Given the description of an element on the screen output the (x, y) to click on. 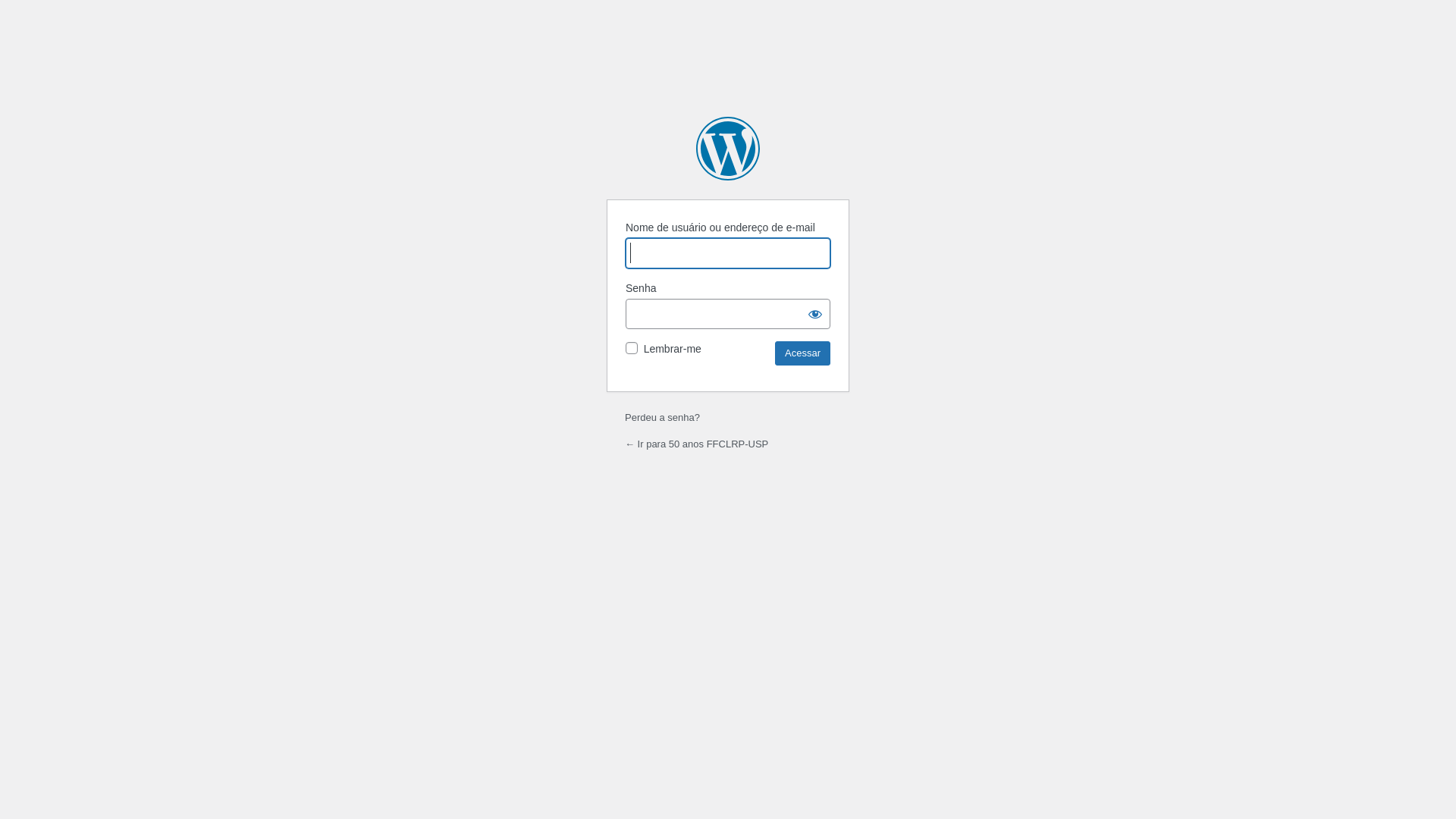
Acessar Element type: text (802, 353)
Powered by WordPress Element type: text (727, 148)
Perdeu a senha? Element type: text (661, 417)
